Given the description of an element on the screen output the (x, y) to click on. 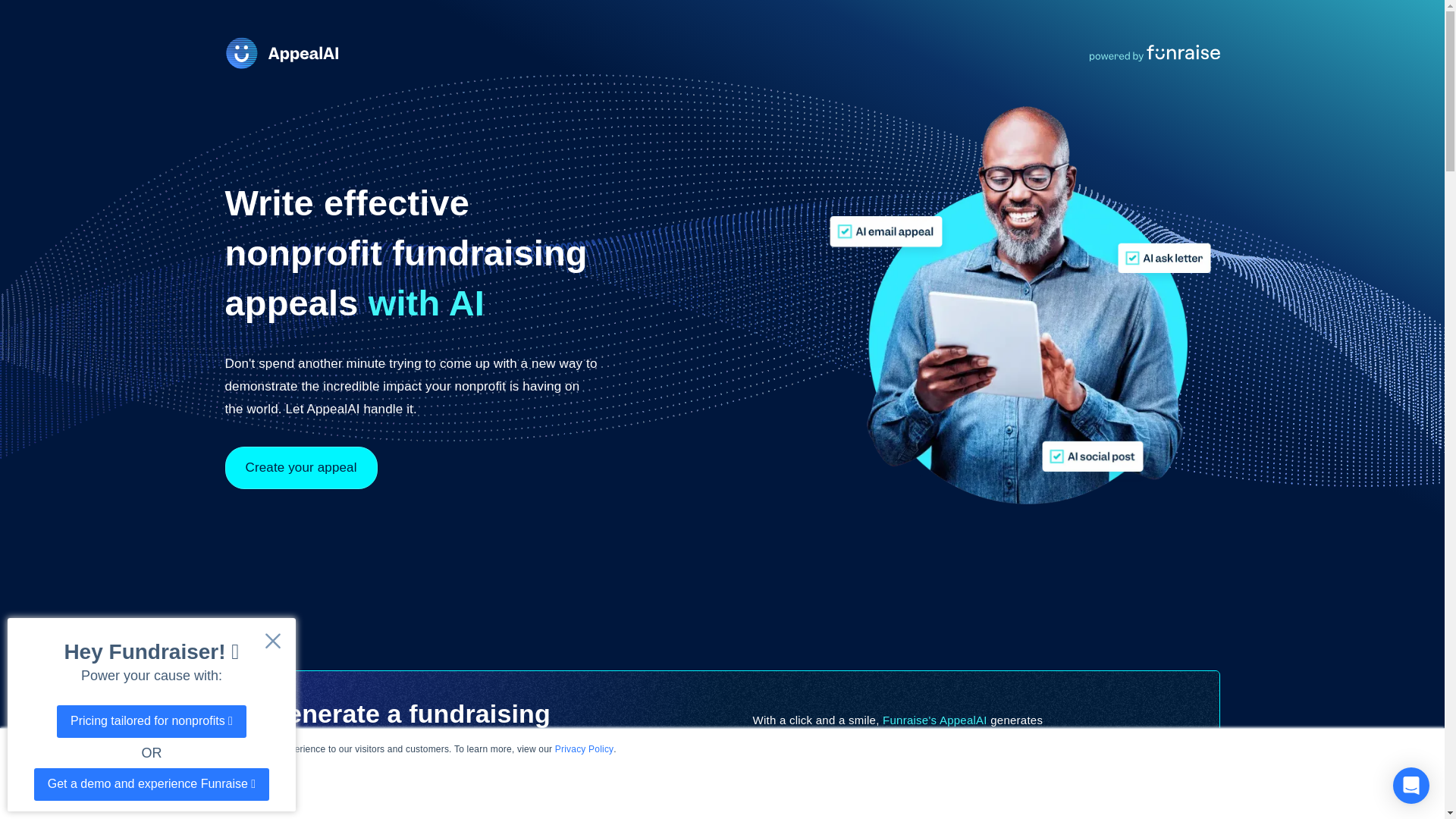
Accept (130, 785)
Privacy Policy (583, 748)
Popup CTA (151, 714)
Create your appeal (300, 467)
